Given the description of an element on the screen output the (x, y) to click on. 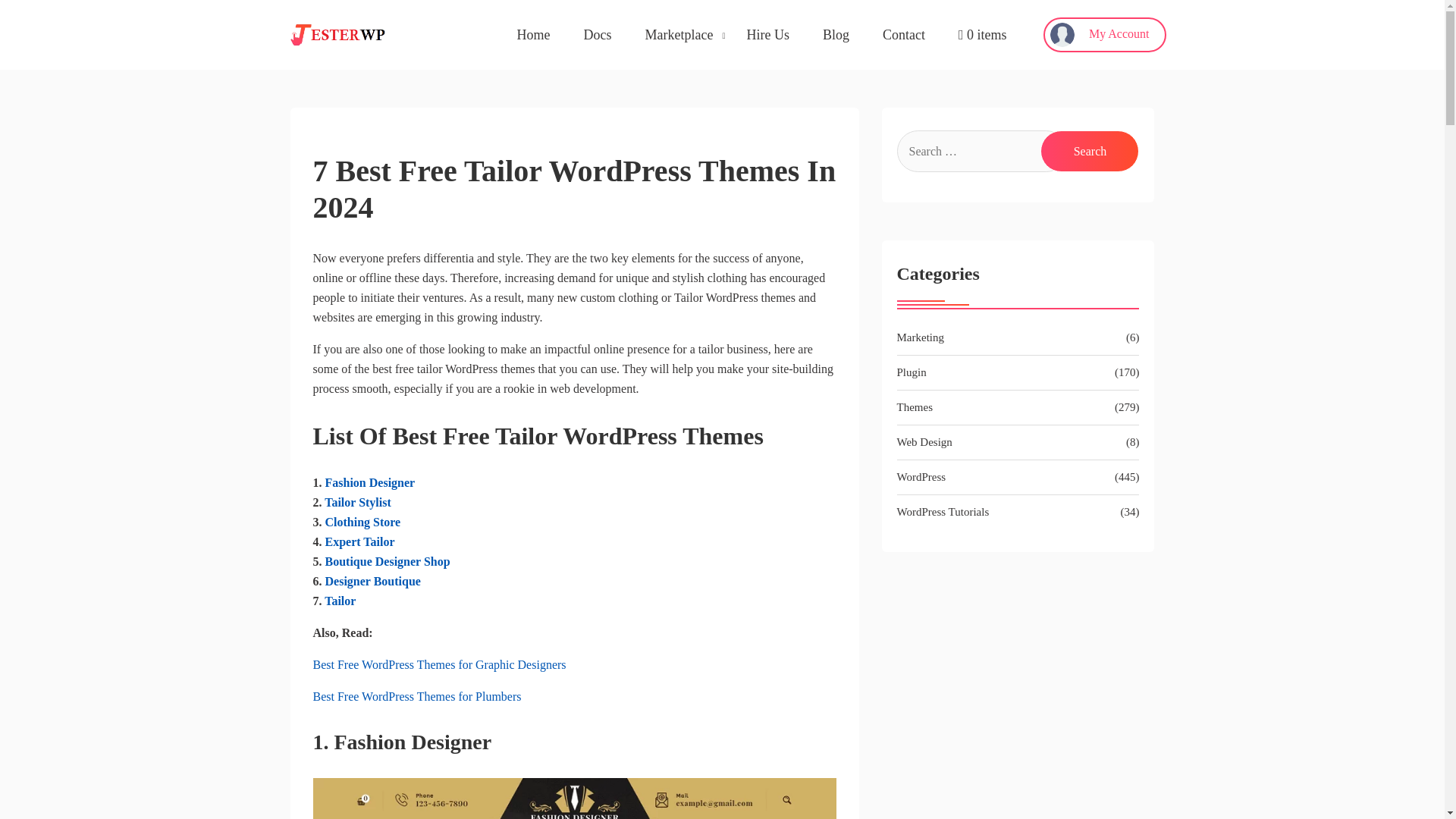
0 items (982, 34)
Search (1089, 150)
Best Free WordPress Themes for Plumbers (417, 696)
Tailor Stylist (357, 502)
Tailor (339, 600)
Clothing Store (362, 521)
Expert Tailor (359, 541)
View your shopping cart (982, 34)
Best Free WordPress Themes for Graphic Designers (439, 664)
Contact (903, 34)
Fashion Designer (369, 481)
Docs (597, 34)
Blog (835, 34)
Home (533, 34)
My Account (1104, 34)
